Given the description of an element on the screen output the (x, y) to click on. 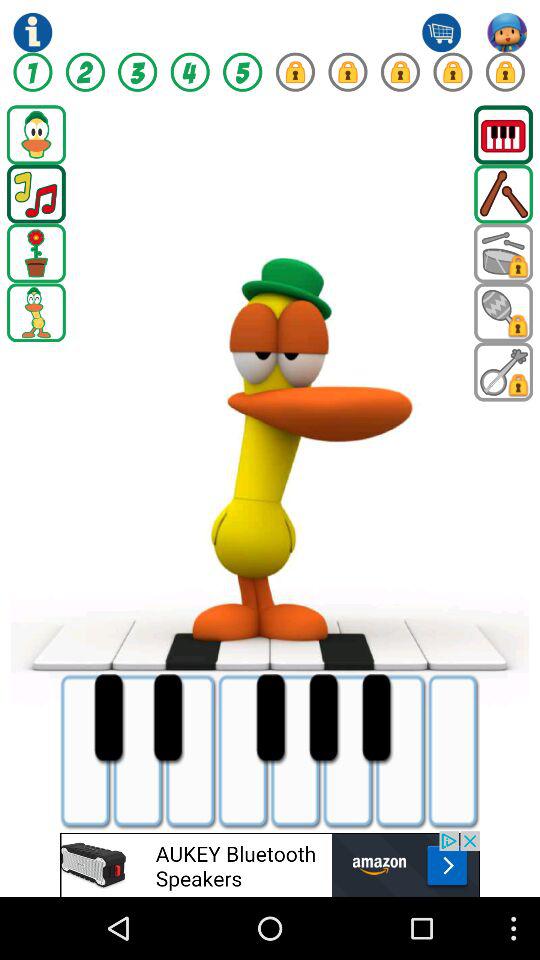
select number 4 (190, 71)
